Given the description of an element on the screen output the (x, y) to click on. 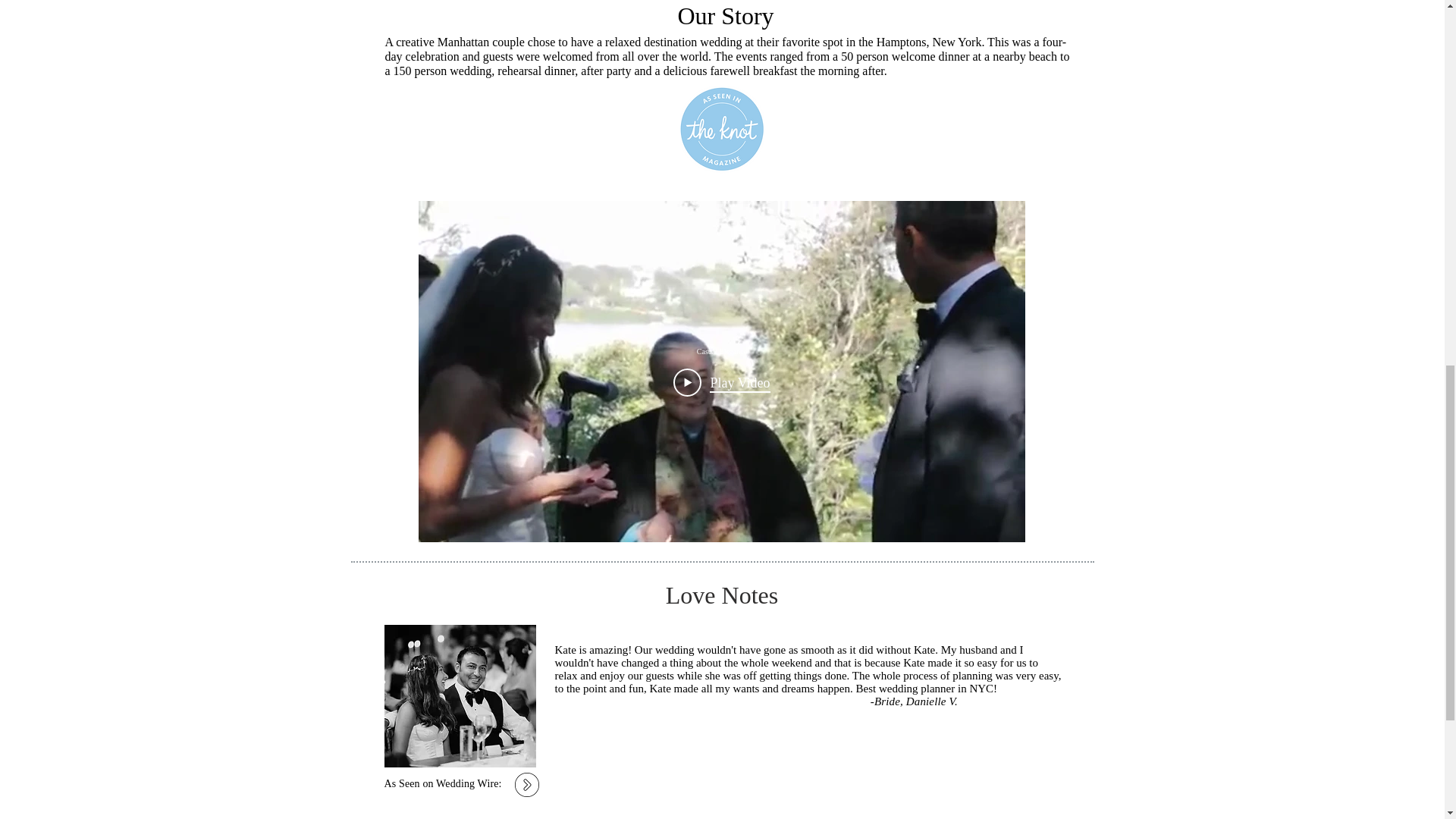
As Seen on Wedding Wire: (442, 784)
Casual Elegance (721, 351)
